Given the description of an element on the screen output the (x, y) to click on. 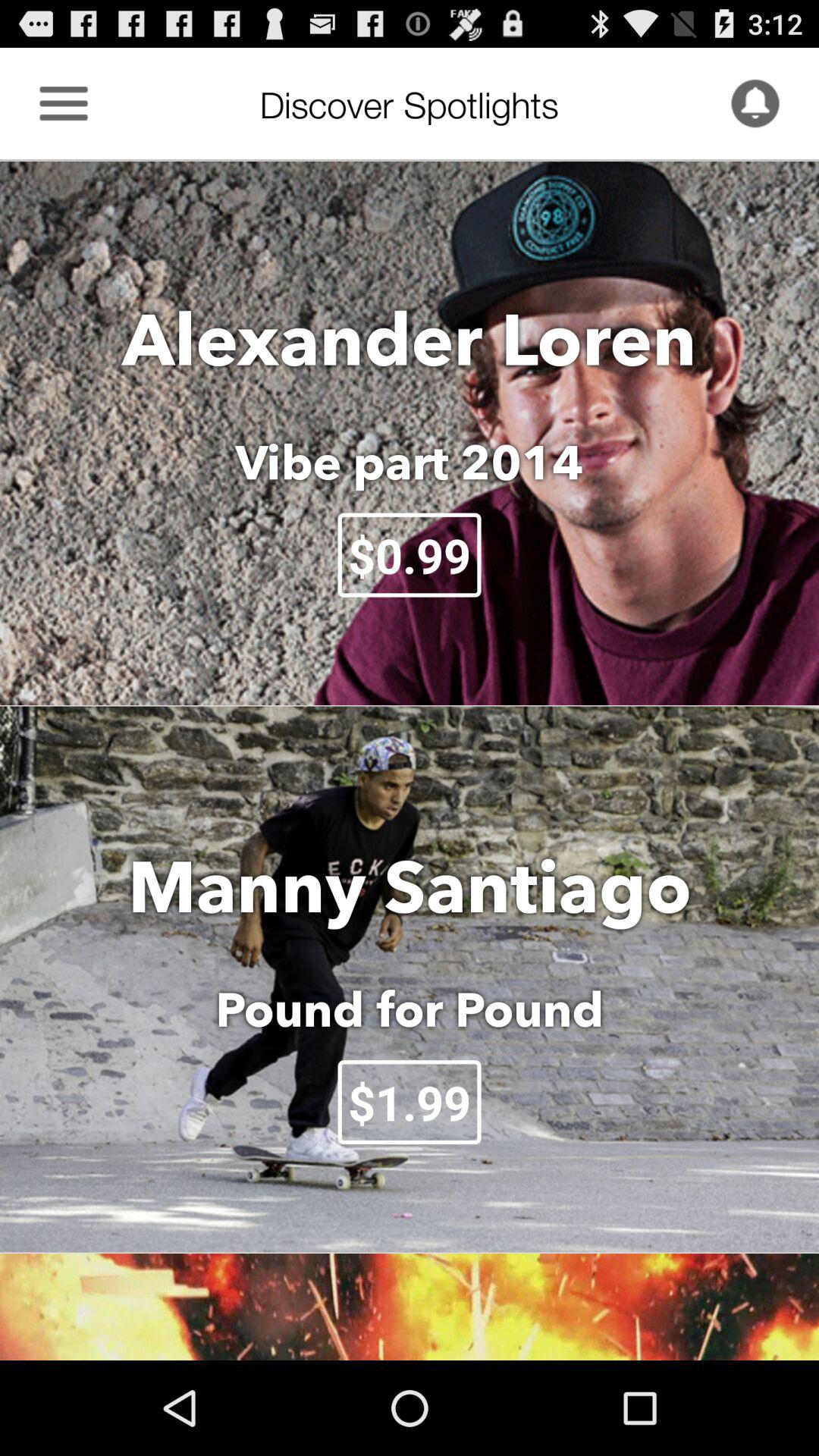
show more information (63, 103)
